Given the description of an element on the screen output the (x, y) to click on. 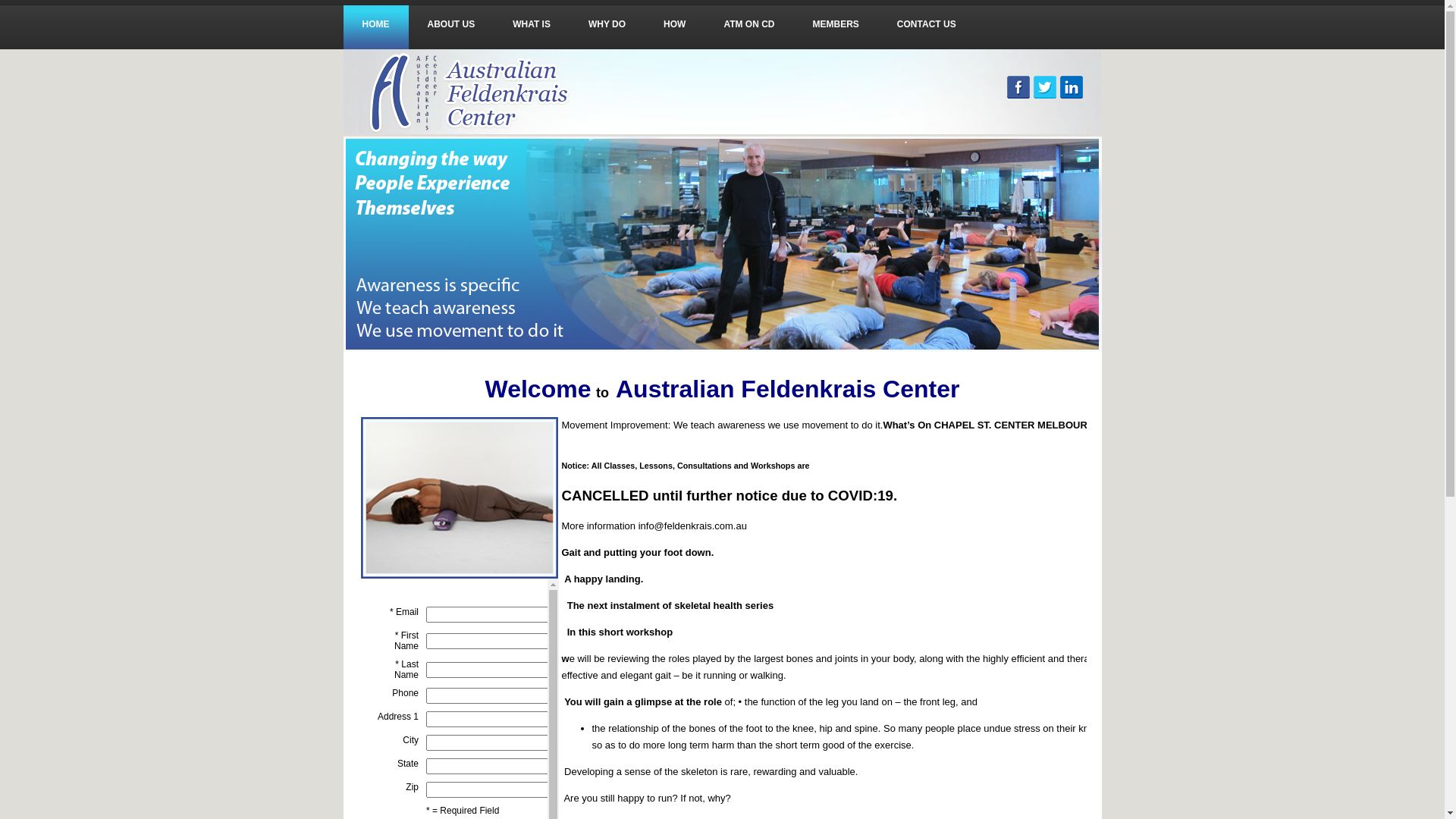
HOME Element type: text (374, 39)
CONTACT US Element type: text (926, 23)
WHY DO Element type: text (606, 23)
HOW Element type: text (674, 23)
ABOUT US Element type: text (450, 23)
WHAT IS Element type: text (531, 23)
ATM ON CD Element type: text (748, 23)
MEMBERS Element type: text (835, 23)
